Given the description of an element on the screen output the (x, y) to click on. 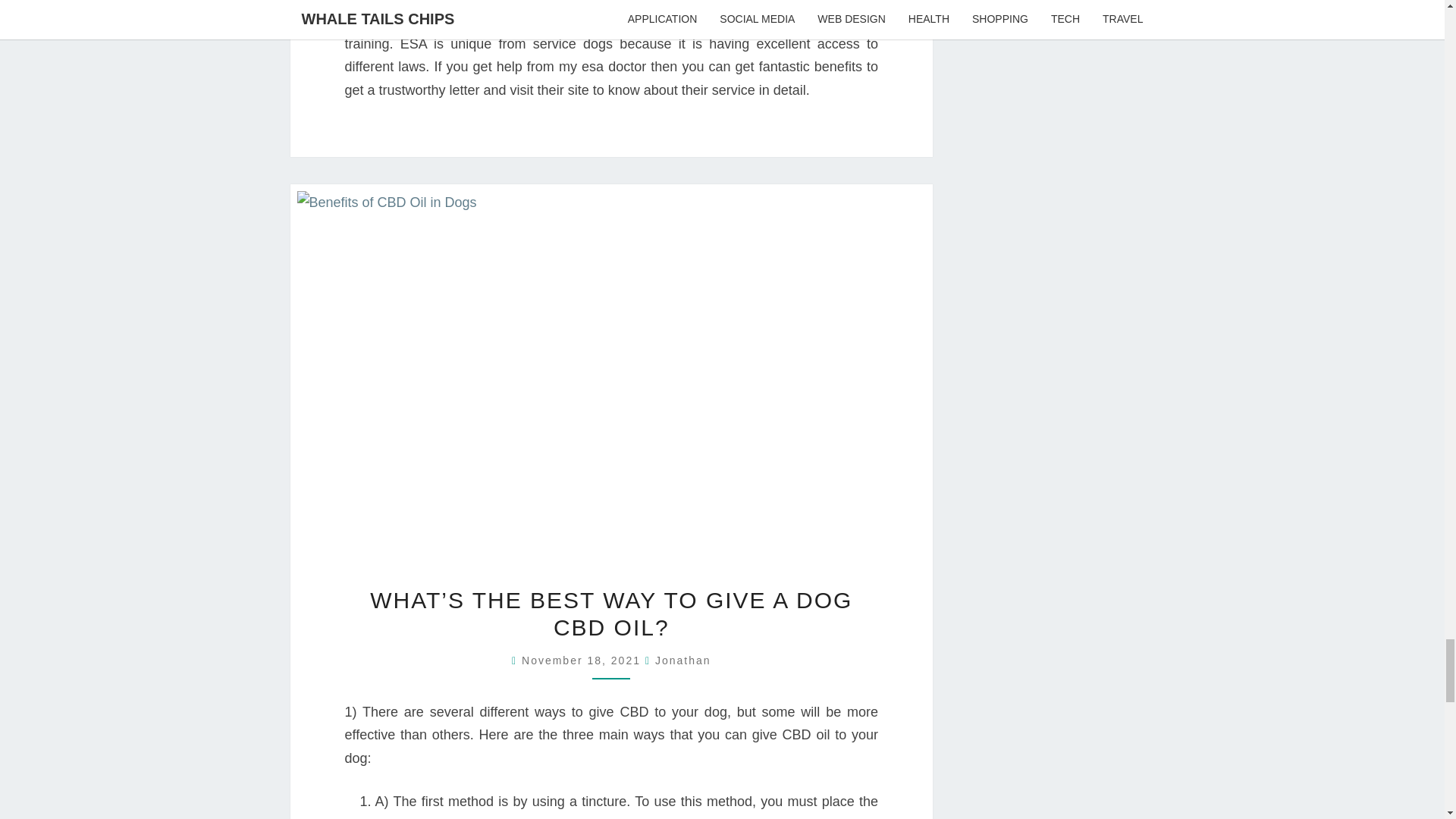
7:19 am (583, 660)
View all posts by Jonathan (683, 660)
Jonathan (683, 660)
November 18, 2021 (583, 660)
